Given the description of an element on the screen output the (x, y) to click on. 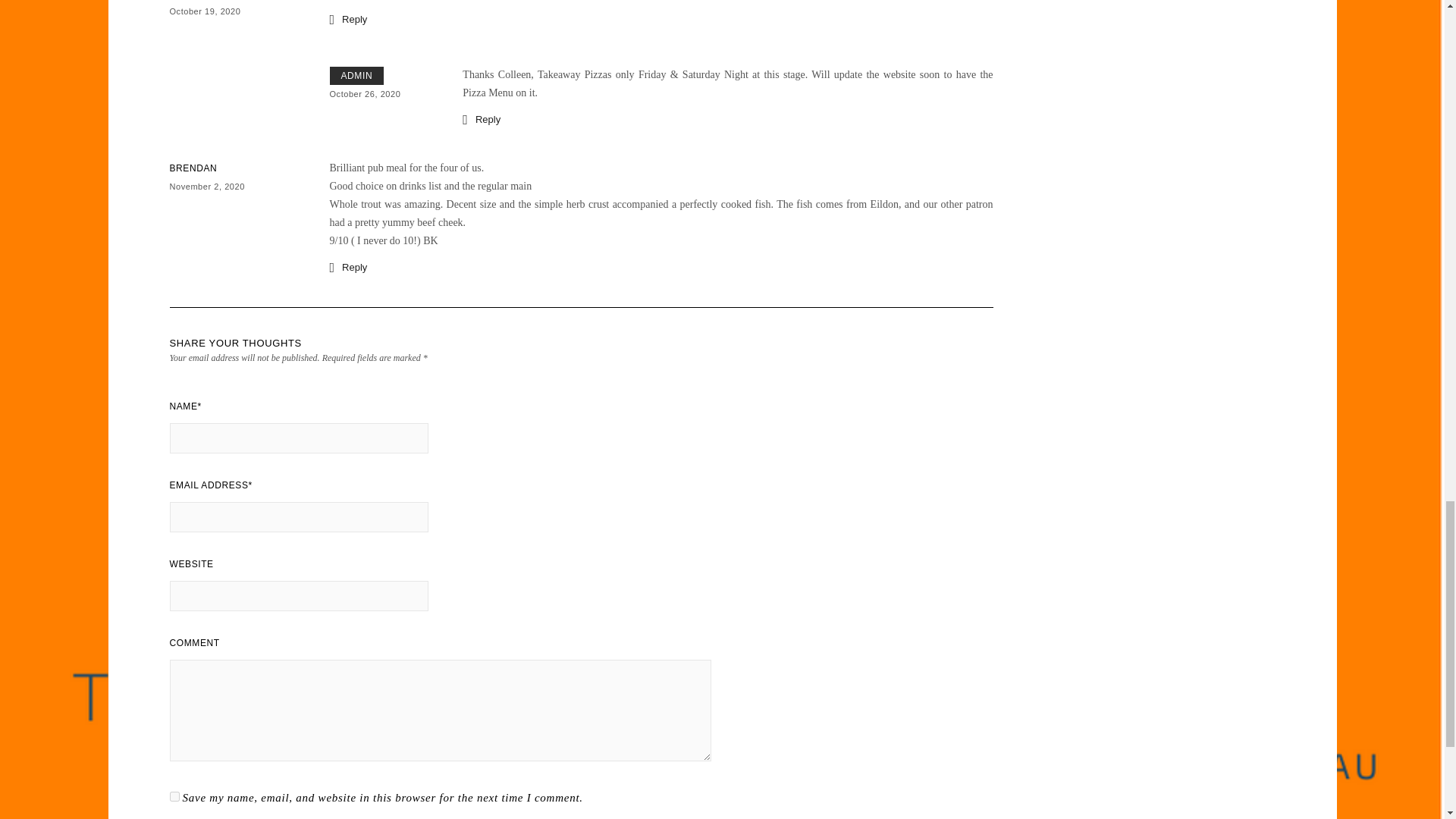
Reply (347, 18)
ADMIN (356, 75)
November 2, 2020 (207, 185)
Reply (481, 118)
Reply (347, 266)
October 26, 2020 (364, 93)
October 19, 2020 (205, 10)
yes (174, 796)
